Given the description of an element on the screen output the (x, y) to click on. 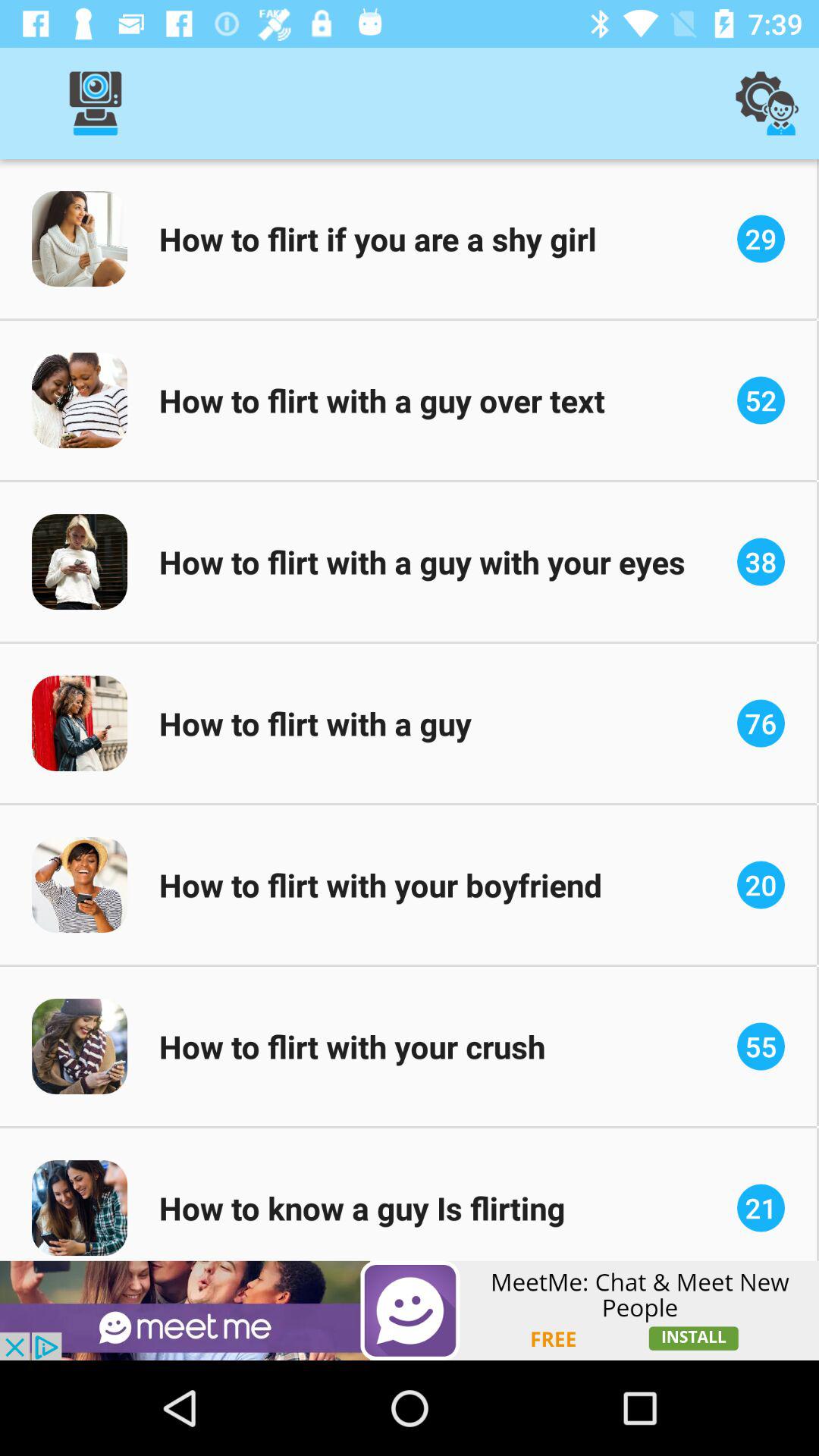
select the 4th image (79, 723)
